Given the description of an element on the screen output the (x, y) to click on. 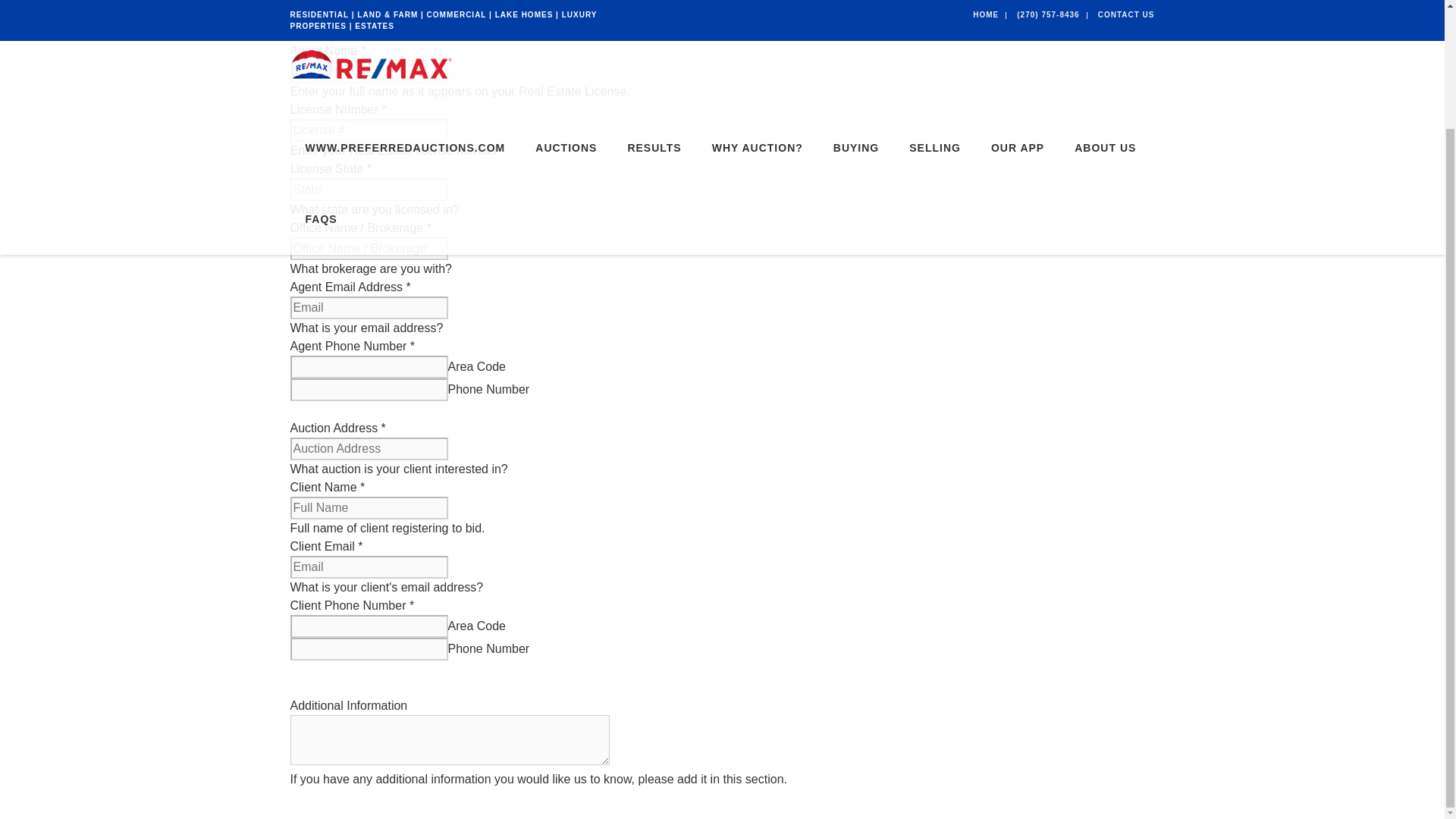
SELLING (934, 20)
AUCTIONS (565, 20)
Auctions (565, 20)
www.PreferredAuctions.com (404, 20)
BUYING (855, 20)
Our App (1017, 20)
Results (653, 20)
RESULTS (653, 20)
WHY AUCTION? (757, 20)
FAQs (312, 77)
Buying (855, 20)
Selling (934, 20)
Why Auction? (757, 20)
WWW.PREFERREDAUCTIONS.COM (404, 20)
About Us (1105, 20)
